Given the description of an element on the screen output the (x, y) to click on. 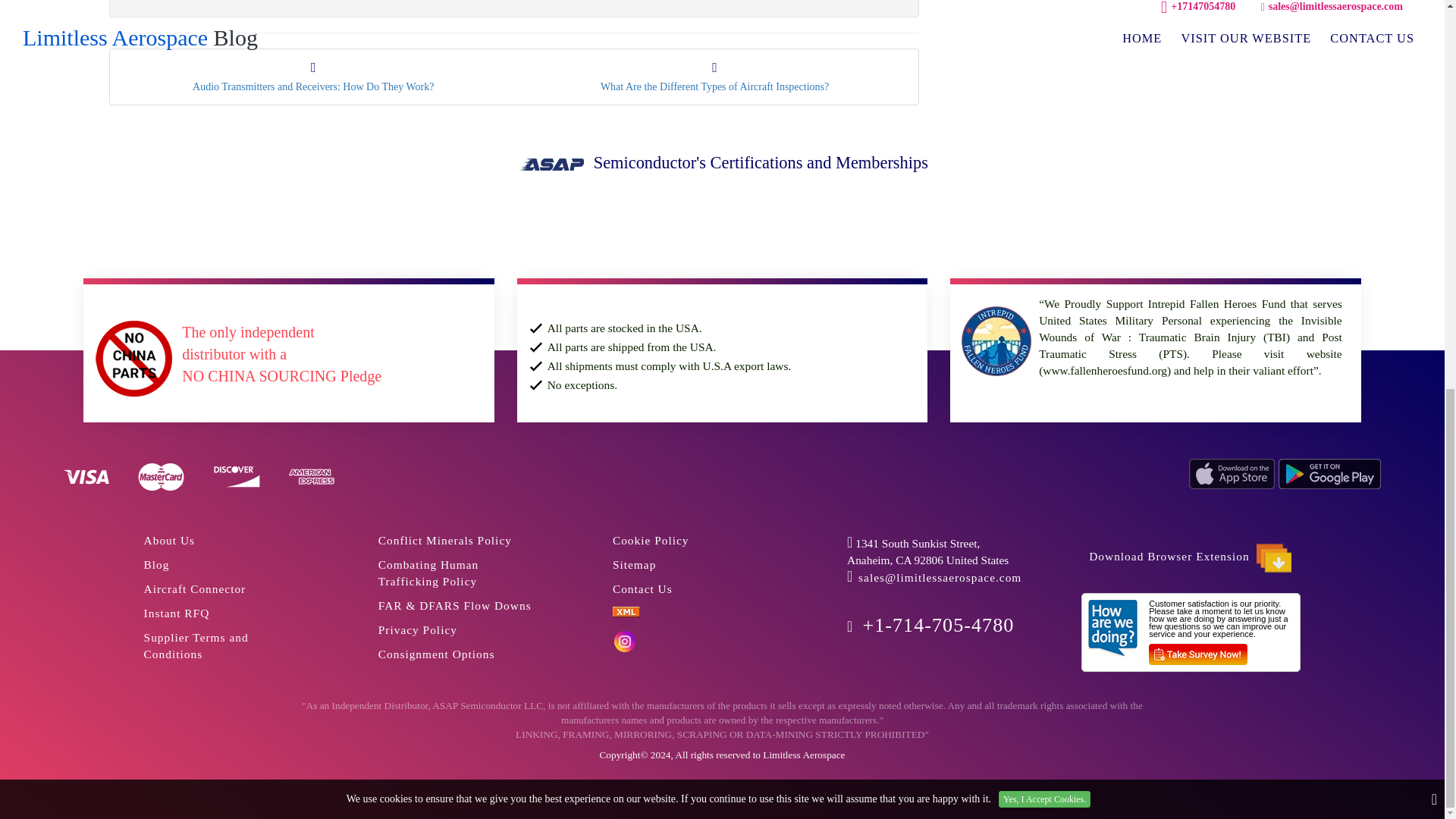
Audio Transmitters and Receivers: How Do They Work? (312, 76)
About Us (196, 645)
Blog (169, 540)
What Are the Different Types of Aircraft Inspections? (157, 563)
Copyright content (714, 76)
Instant RFQ (195, 588)
